Given the description of an element on the screen output the (x, y) to click on. 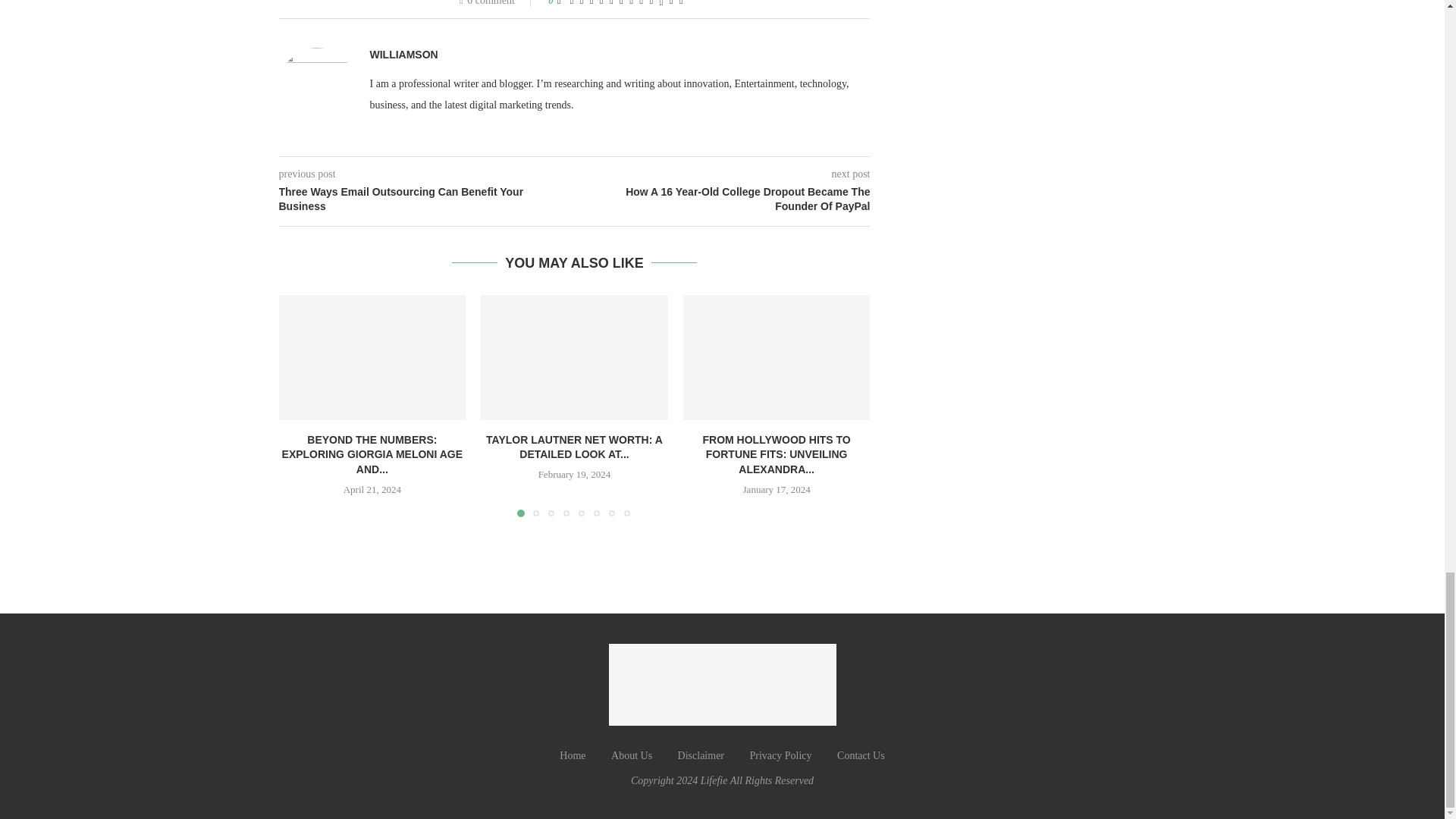
Author Williamson (403, 54)
